Given the description of an element on the screen output the (x, y) to click on. 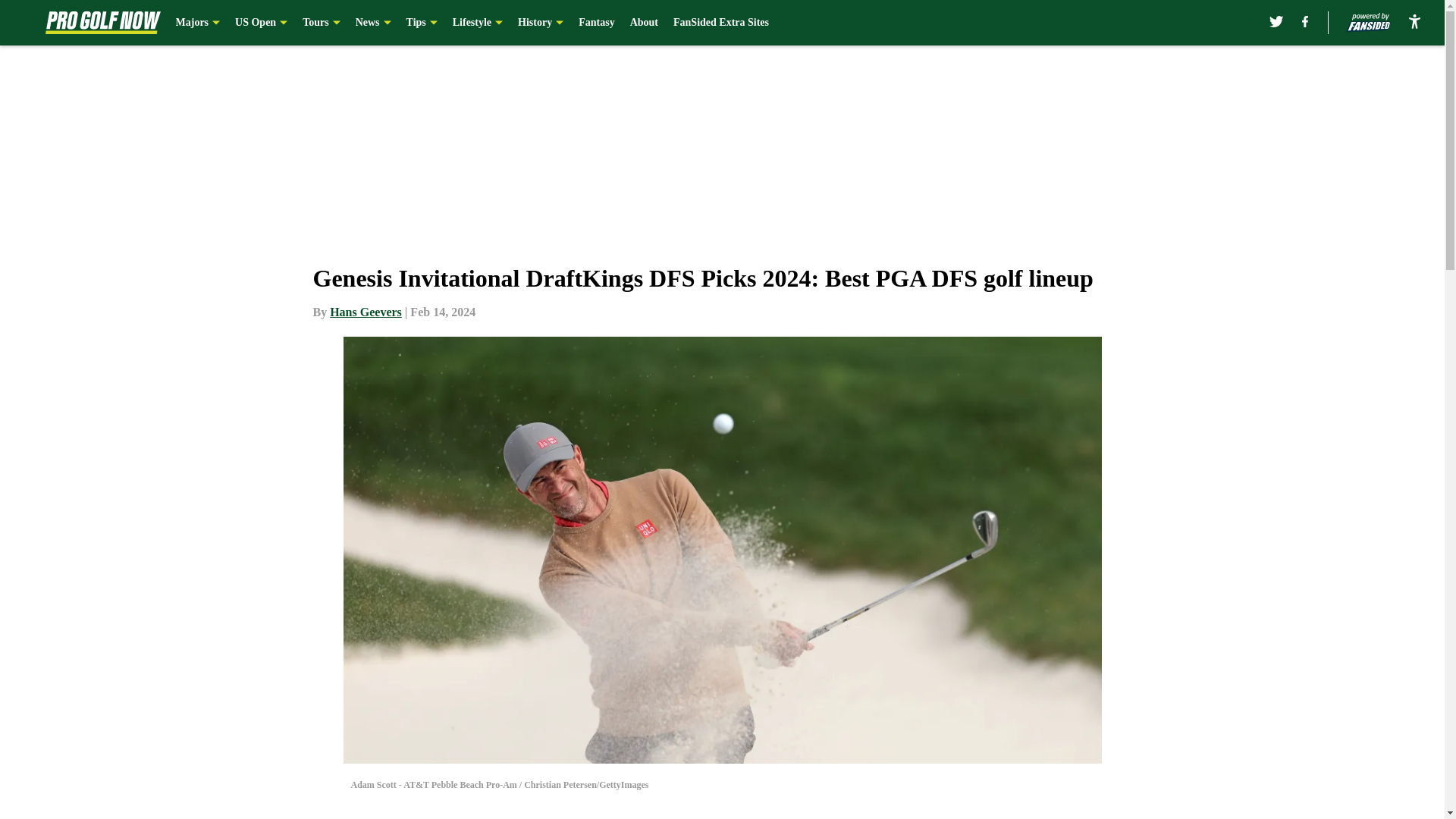
About (644, 22)
Hans Geevers (365, 311)
FanSided Extra Sites (720, 22)
Fantasy (596, 22)
